Given the description of an element on the screen output the (x, y) to click on. 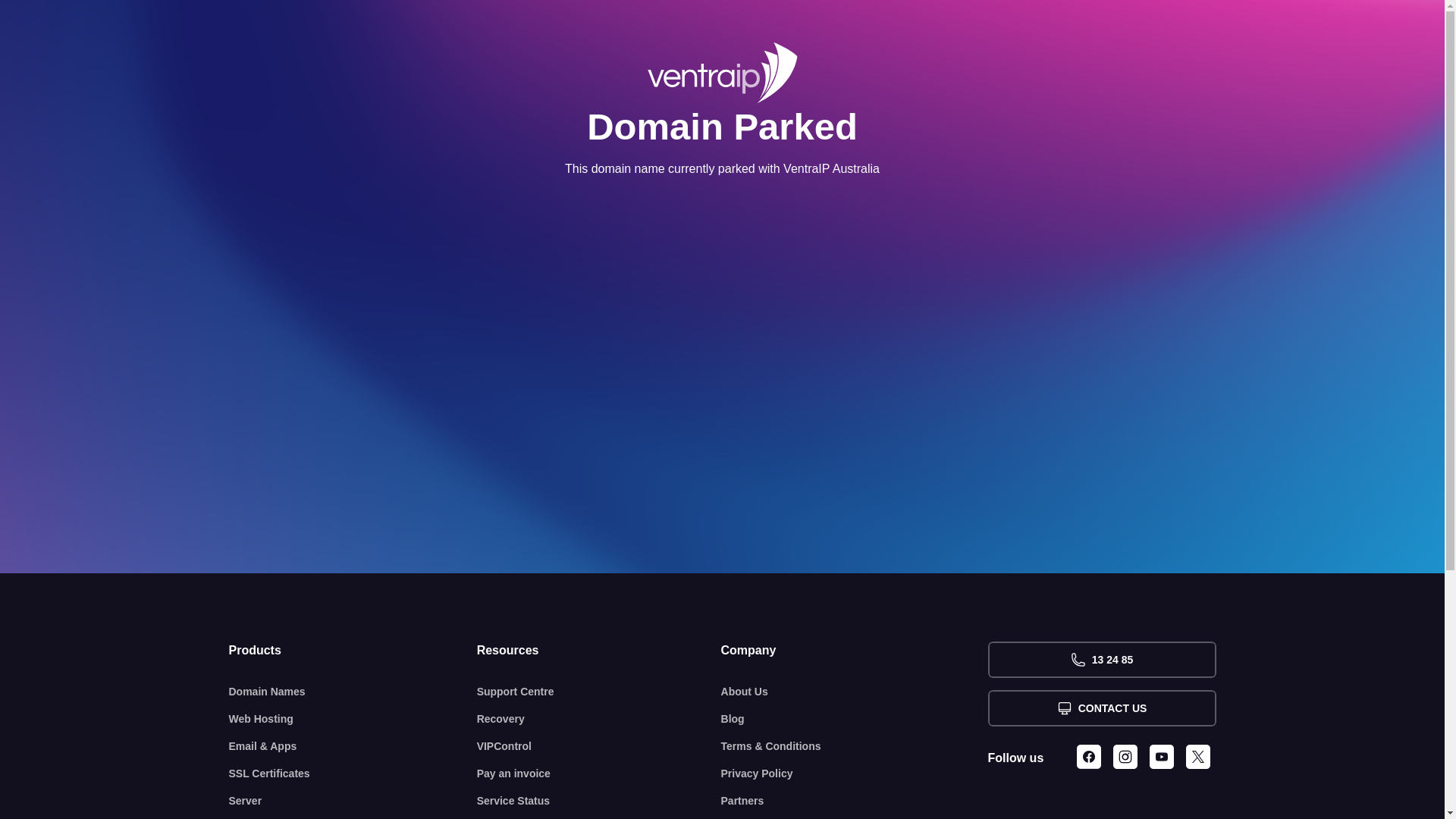
Email & Apps Element type: text (352, 745)
Terms & Conditions Element type: text (854, 745)
Web Hosting Element type: text (352, 718)
Partners Element type: text (854, 800)
Domain Names Element type: text (352, 691)
About Us Element type: text (854, 691)
13 24 85 Element type: text (1101, 659)
Service Status Element type: text (598, 800)
Blog Element type: text (854, 718)
CONTACT US Element type: text (1101, 708)
VIPControl Element type: text (598, 745)
Pay an invoice Element type: text (598, 773)
Support Centre Element type: text (598, 691)
Privacy Policy Element type: text (854, 773)
SSL Certificates Element type: text (352, 773)
Server Element type: text (352, 800)
Recovery Element type: text (598, 718)
